Given the description of an element on the screen output the (x, y) to click on. 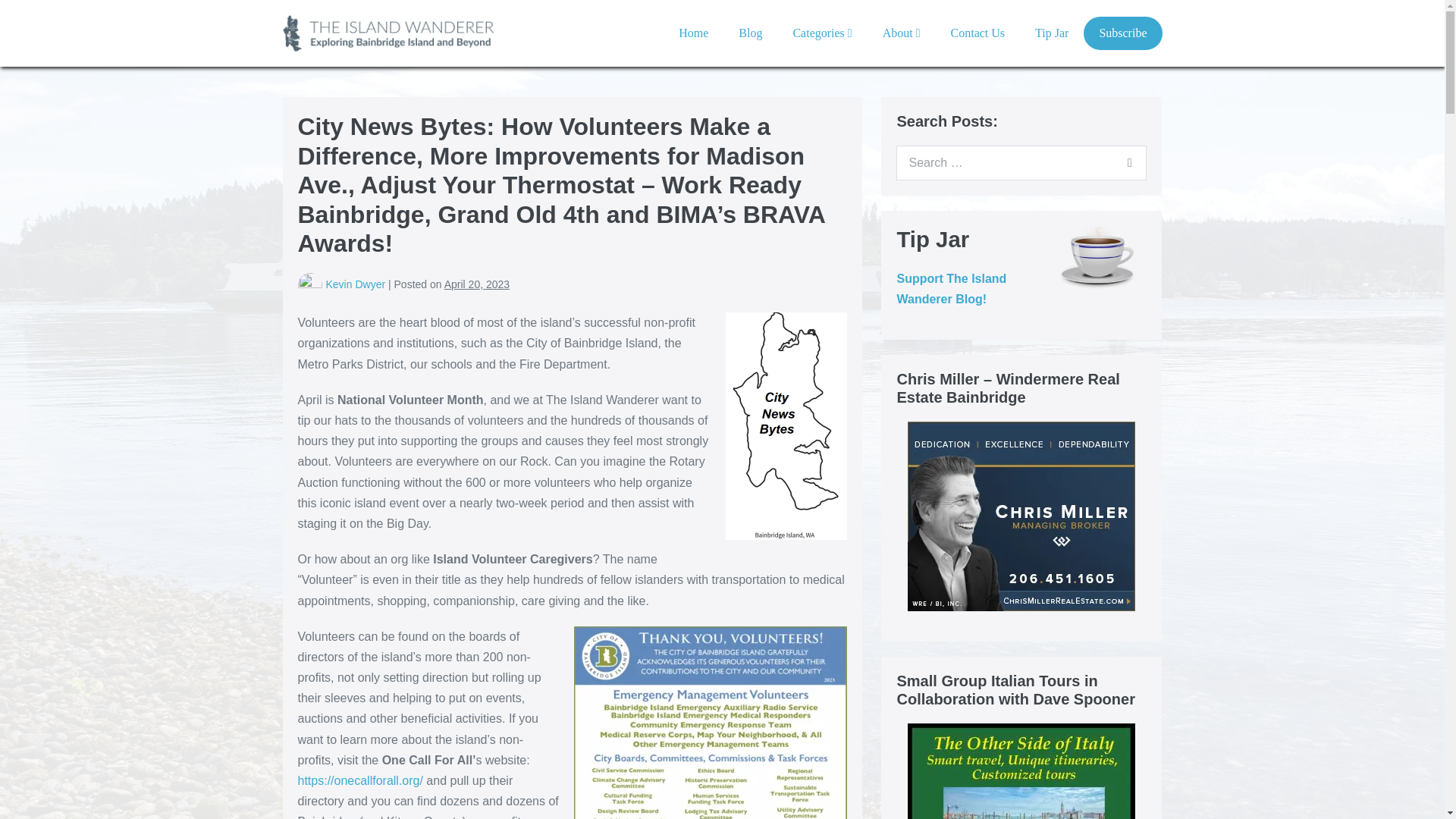
Home (693, 32)
Subscribe (1122, 32)
THE ISLAND WANDERER (392, 33)
Categories (821, 32)
Tip Jar (1051, 32)
About (901, 32)
Blog (750, 32)
Contact Us (978, 32)
View all posts by Kevin Dwyer (355, 284)
